Given the description of an element on the screen output the (x, y) to click on. 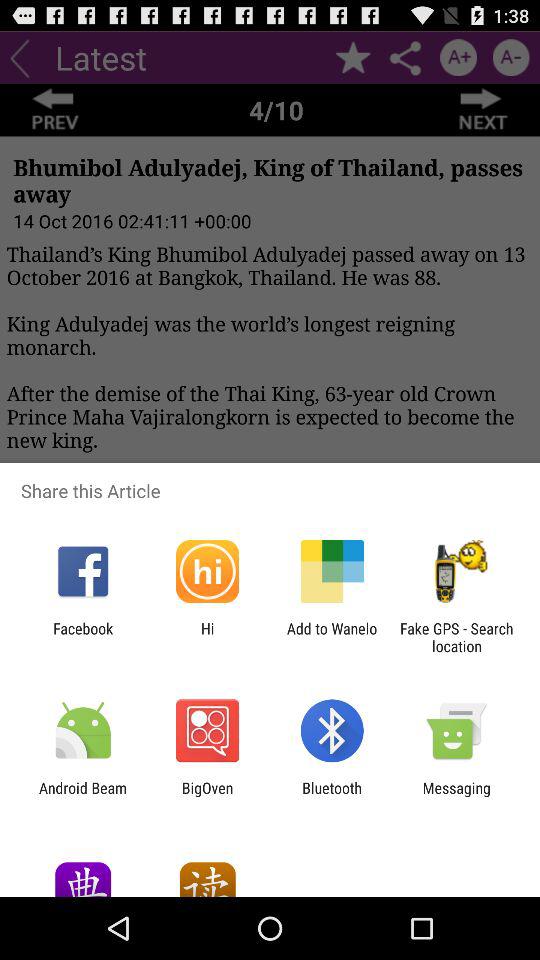
open the icon next to add to wanelo (456, 637)
